Given the description of an element on the screen output the (x, y) to click on. 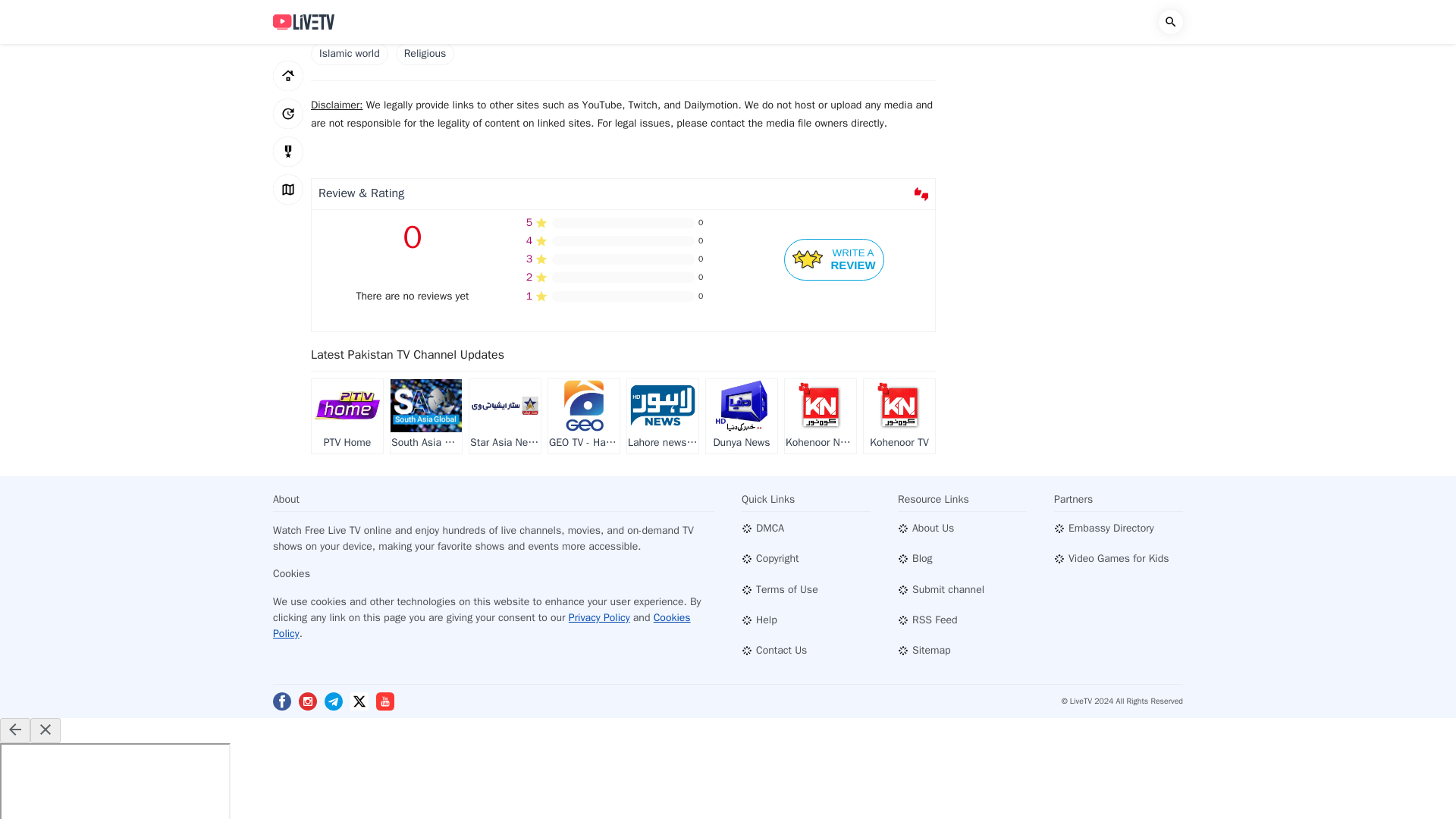
Kohenoor TV (833, 259)
PTV Home (898, 416)
Islamic world (346, 416)
South Asia Global TV (349, 53)
Religious (425, 416)
Star Asia News (425, 53)
Lahore news TV (504, 416)
Dunya News (662, 416)
GEO TV - Har Pal Geo (741, 416)
Kohenoor News (584, 416)
